Given the description of an element on the screen output the (x, y) to click on. 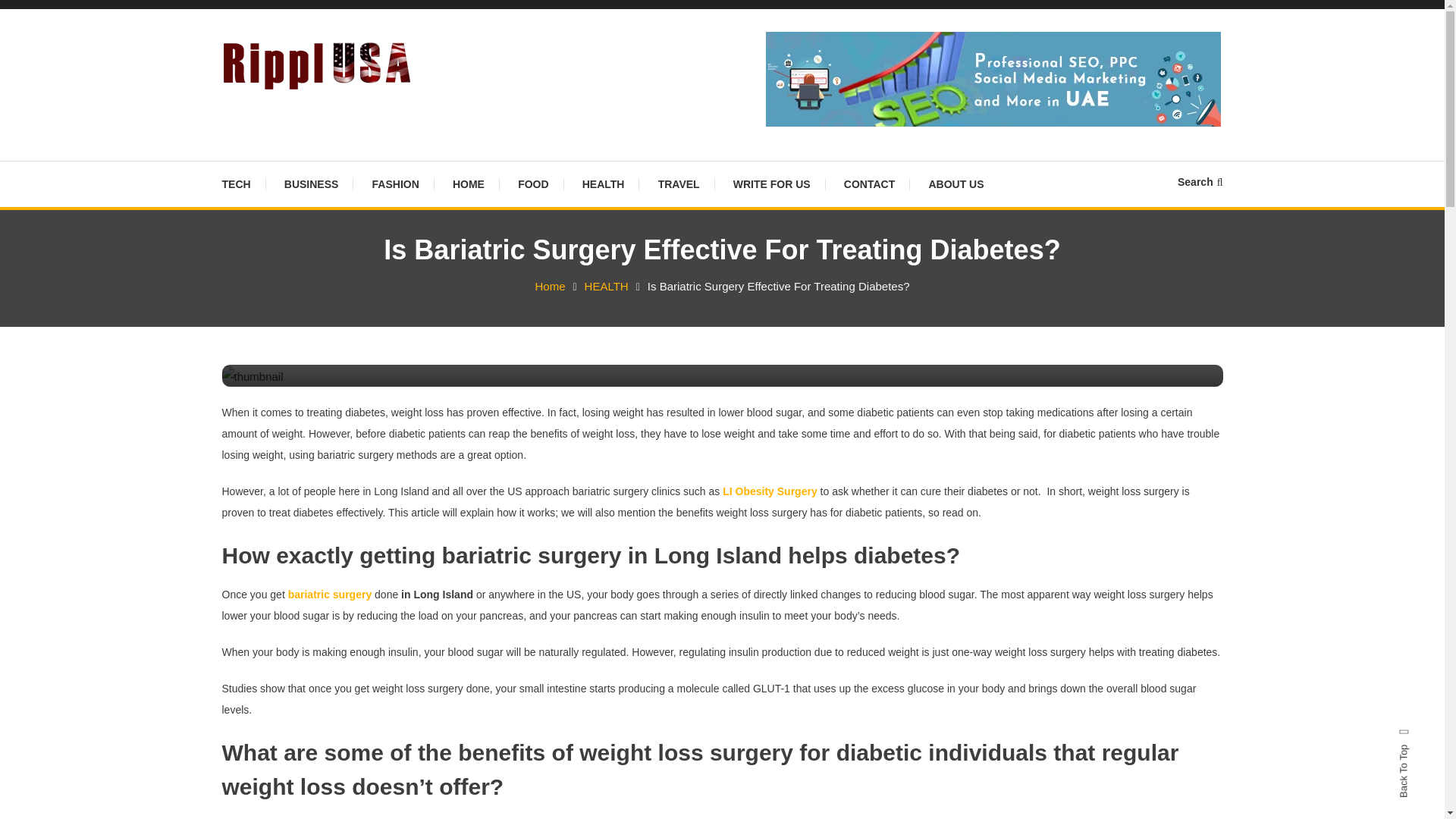
Home (549, 286)
CONTACT (869, 184)
LI Obesity Surgery (769, 491)
HEALTH (603, 184)
FOOD (532, 184)
TRAVEL (678, 184)
bariatric surgery (330, 594)
BUSINESS (311, 184)
HEALTH (606, 286)
Search (768, 432)
WRITE FOR US (771, 184)
Rippl USA (288, 112)
HOME (468, 184)
TECH (242, 184)
ABOUT US (955, 184)
